Given the description of an element on the screen output the (x, y) to click on. 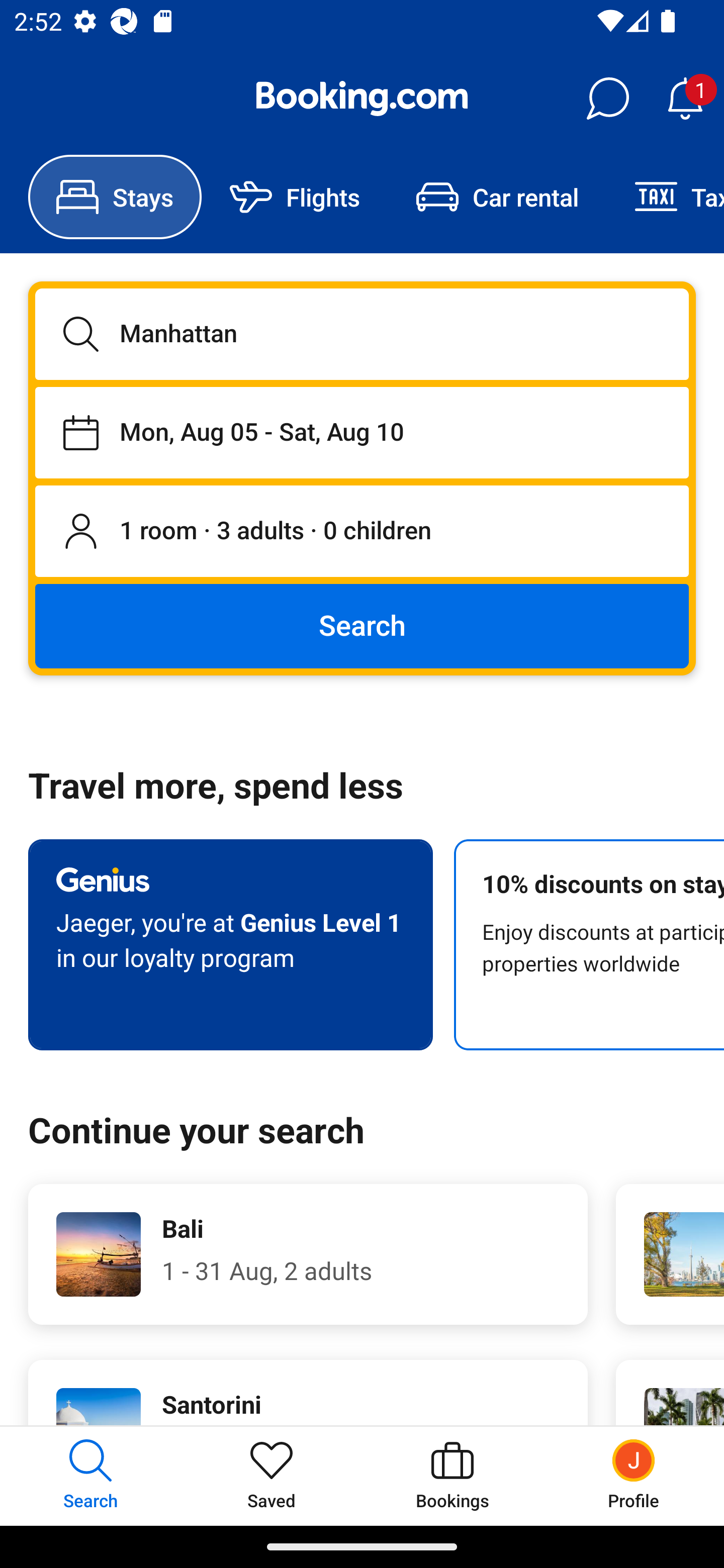
Messages (607, 98)
Notifications (685, 98)
Stays (114, 197)
Flights (294, 197)
Car rental (497, 197)
Taxi (665, 197)
Manhattan (361, 333)
Staying from Mon, Aug 05 until Sat, Aug 10 (361, 432)
1 room, 3 adults, 0 children (361, 531)
Search (361, 625)
Bali 1 - 31 Aug, 2 adults (307, 1253)
Saved (271, 1475)
Bookings (452, 1475)
Profile (633, 1475)
